Given the description of an element on the screen output the (x, y) to click on. 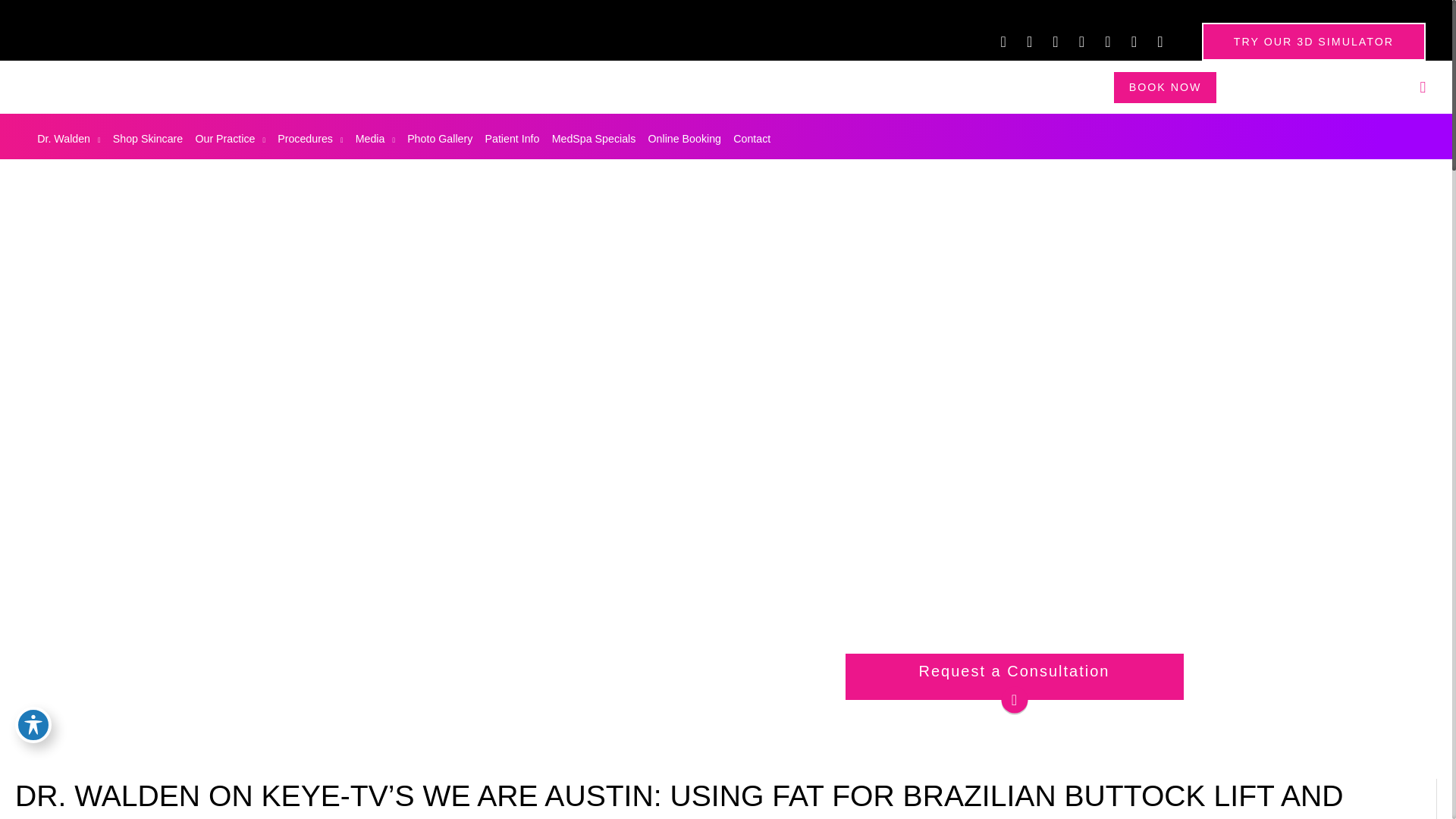
Shop Skincare (142, 138)
BOOK NOW (1165, 87)
Our Practice (225, 138)
TRY OUR 3D SIMULATOR (1305, 41)
AUSTIN, TX (1269, 87)
Dr. Walden (63, 138)
512-328-4100 (1371, 87)
